Given the description of an element on the screen output the (x, y) to click on. 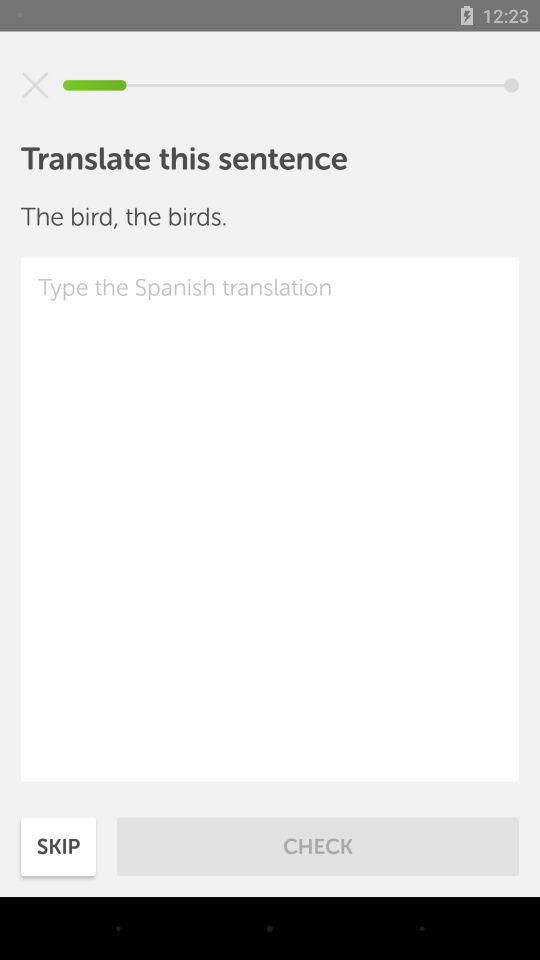
open the icon to the left of check item (58, 846)
